Given the description of an element on the screen output the (x, y) to click on. 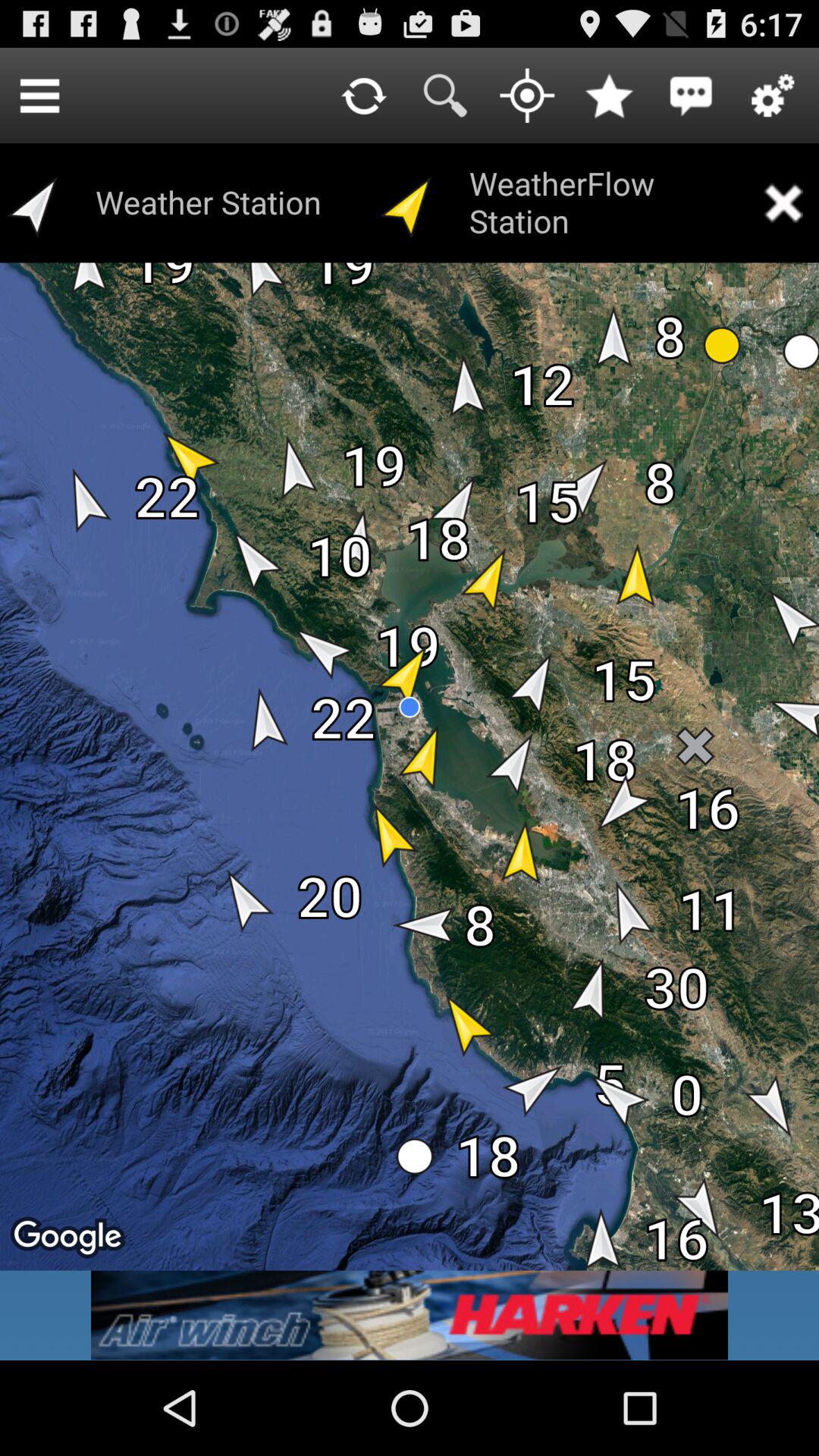
message (690, 95)
